Given the description of an element on the screen output the (x, y) to click on. 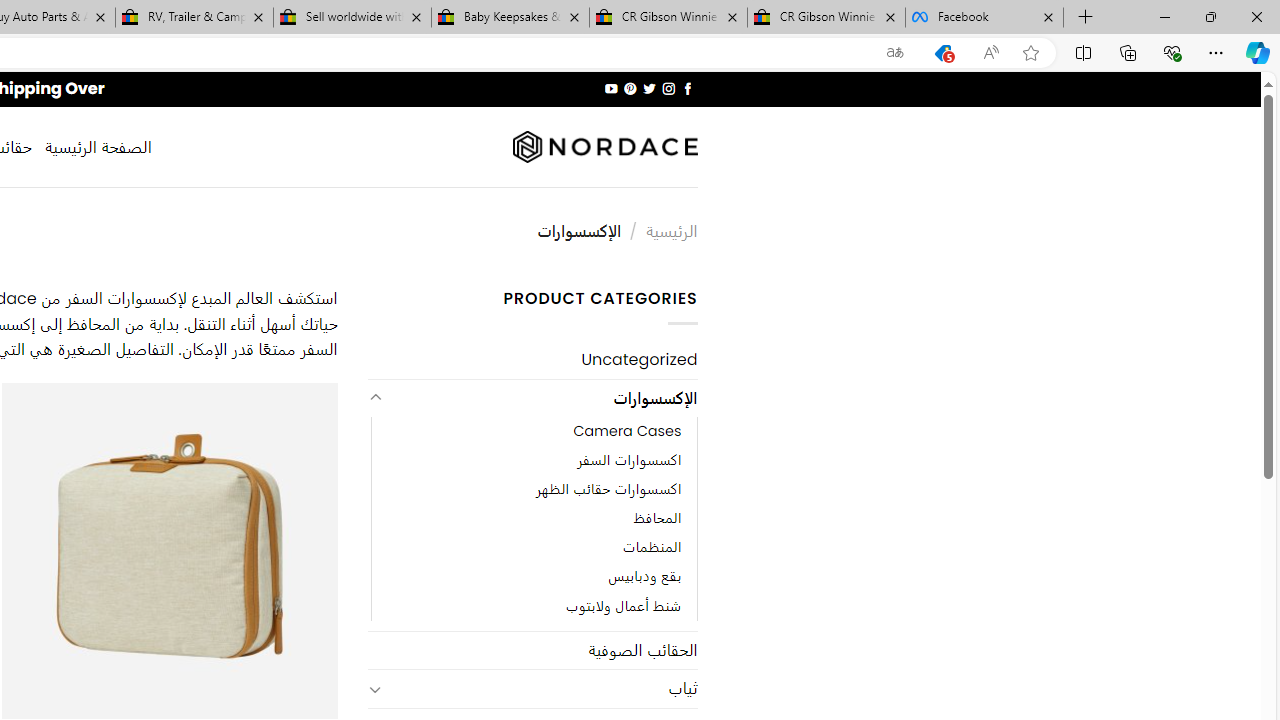
Copilot (Ctrl+Shift+.) (1258, 52)
Sell worldwide with eBay (352, 17)
New Tab (1085, 17)
Show translate options (895, 53)
Follow on Facebook (686, 88)
Follow on Instagram (667, 88)
Settings and more (Alt+F) (1215, 52)
Camera Cases (534, 431)
Follow on Pinterest (630, 88)
